Given the description of an element on the screen output the (x, y) to click on. 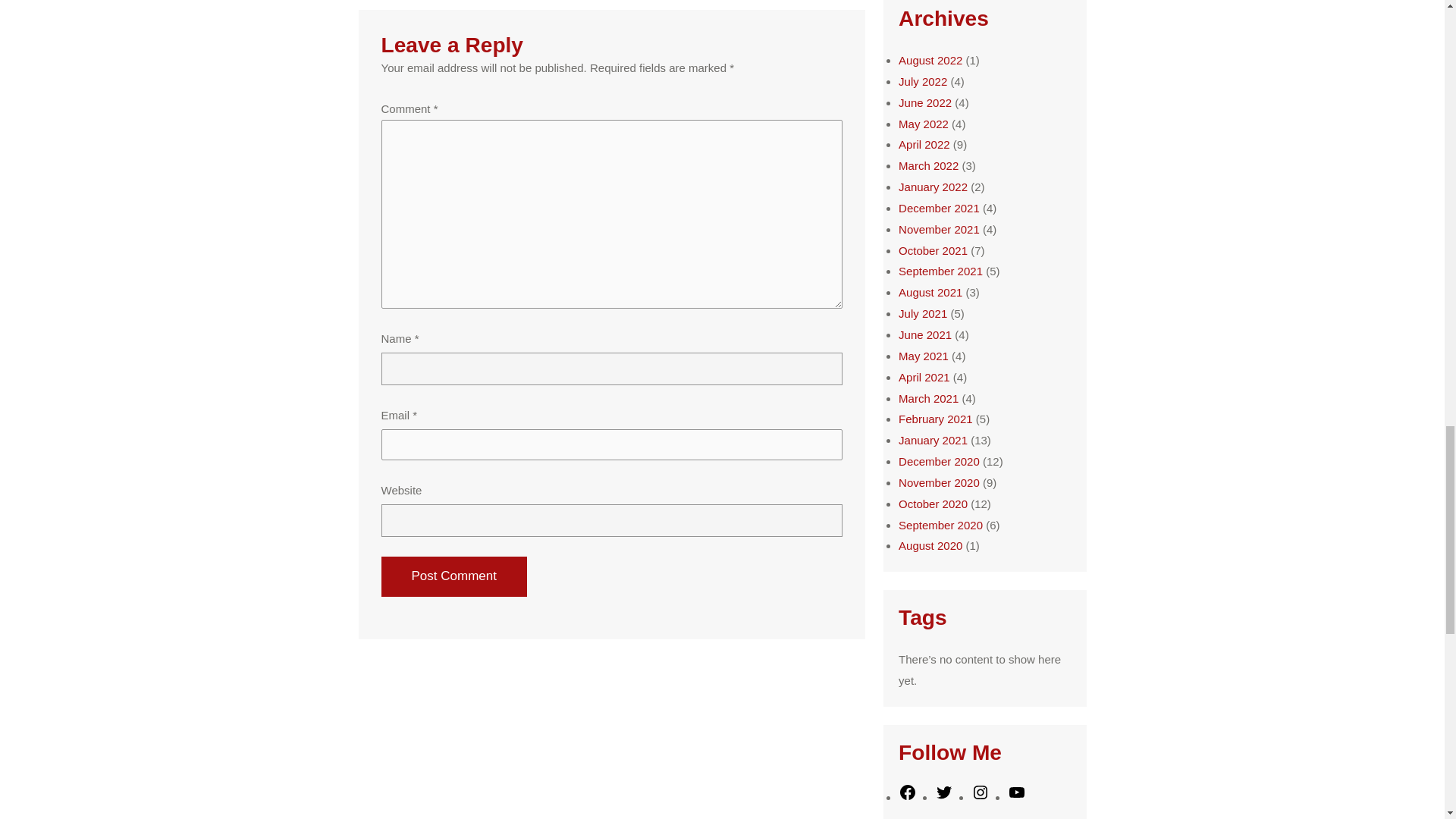
June 2022 (925, 102)
Post Comment (452, 576)
Post Comment (452, 576)
July 2022 (922, 81)
August 2022 (930, 60)
May 2022 (923, 123)
